Given the description of an element on the screen output the (x, y) to click on. 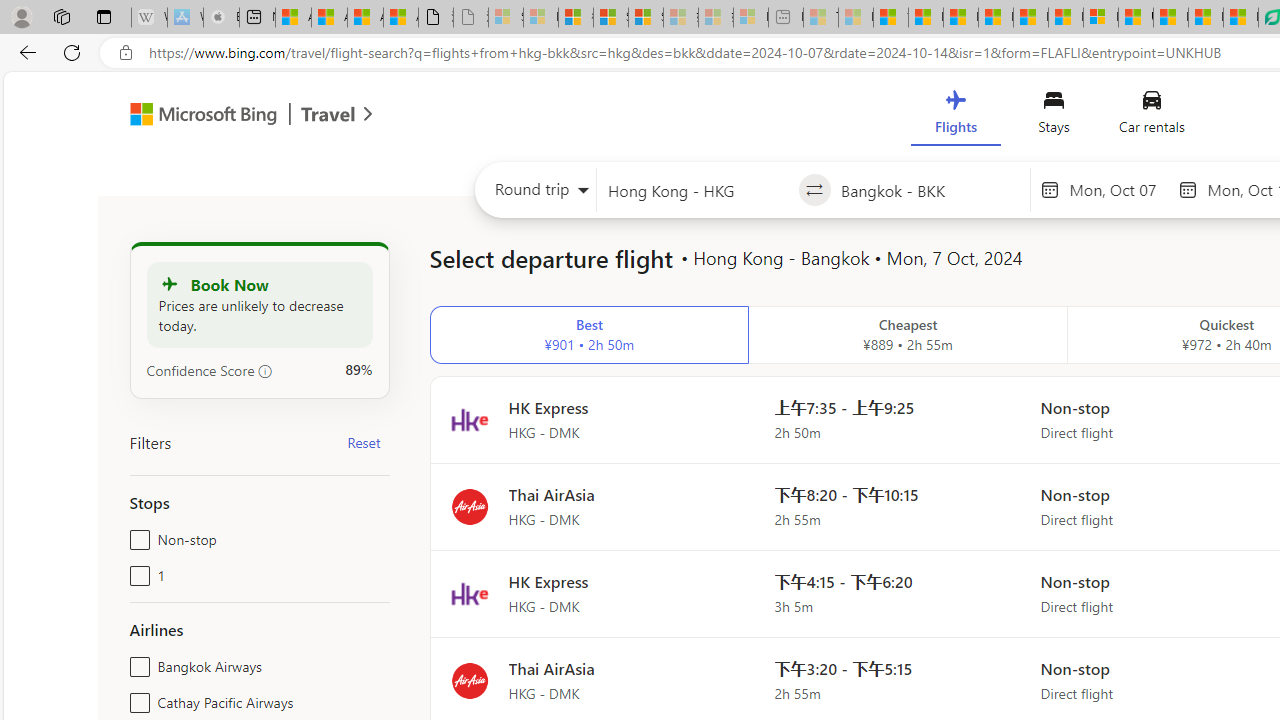
Reset (363, 442)
Drinking tea every day is proven to delay biological aging (995, 17)
Flights (955, 116)
Class: msft-bing-logo msft-bing-logo-desktop (198, 114)
Stays (1053, 116)
Cathay Pacific Airways (136, 698)
Sign in to your Microsoft account - Sleeping (506, 17)
Food and Drink - MSN (925, 17)
Marine life - MSN - Sleeping (855, 17)
Select trip type (535, 193)
